Given the description of an element on the screen output the (x, y) to click on. 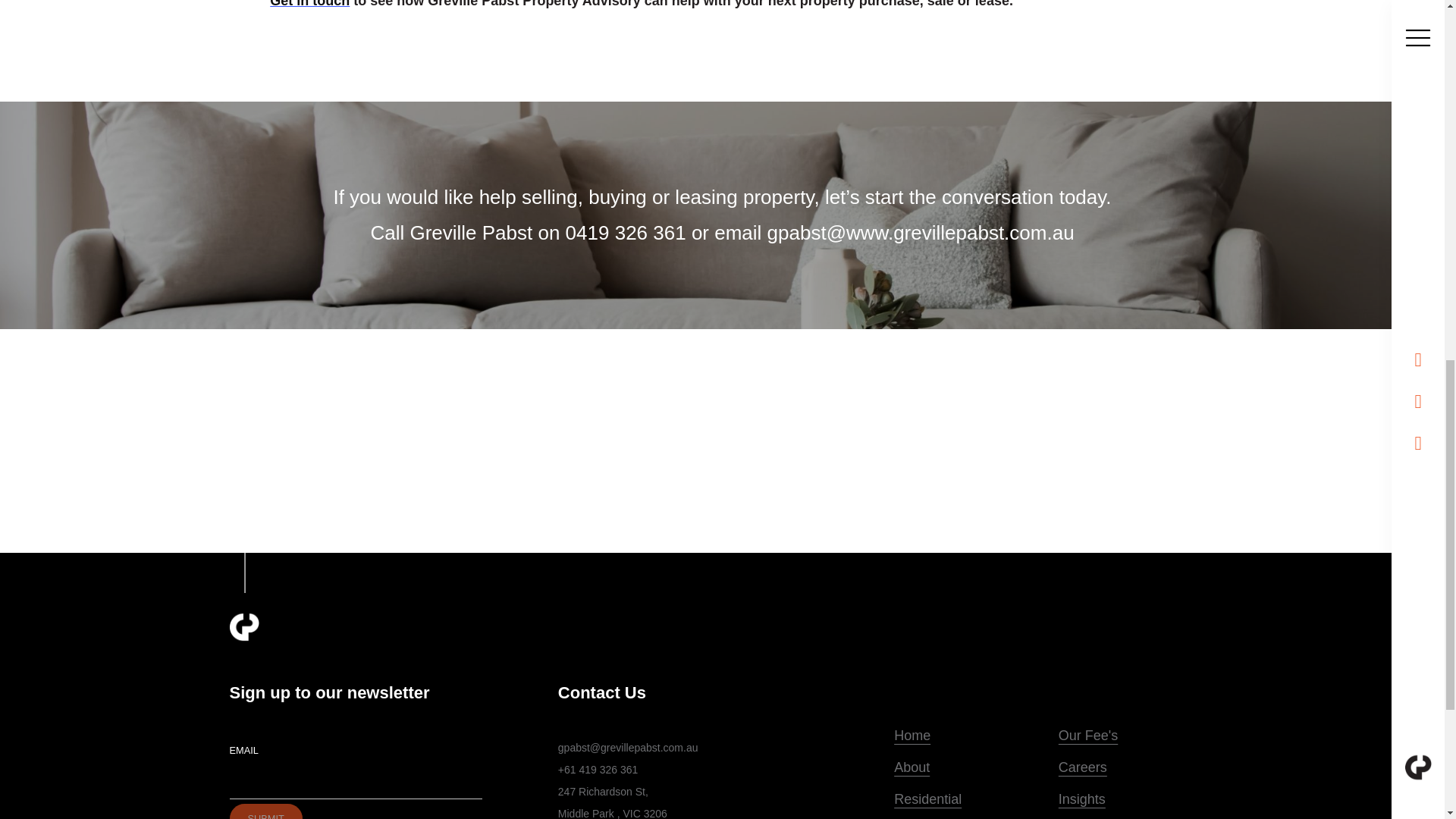
Our Fee's (1133, 735)
Get in touch (309, 4)
Residential (968, 799)
Submit (264, 811)
Submit (264, 811)
Insights (1133, 799)
Careers (1133, 767)
About (968, 767)
Home (968, 735)
